Given the description of an element on the screen output the (x, y) to click on. 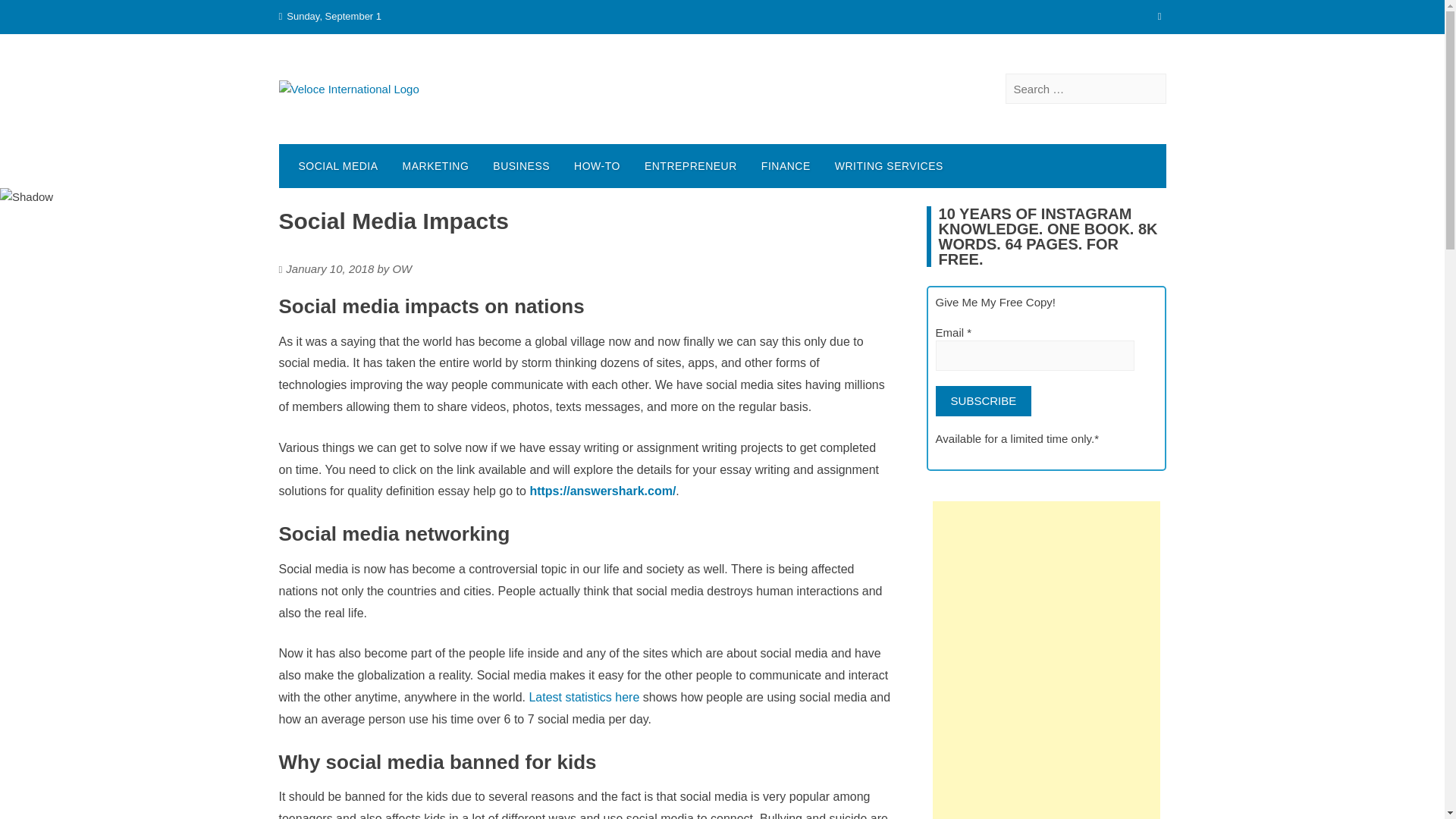
Marketing (435, 166)
WRITING SERVICES (888, 166)
Email (1035, 355)
ENTREPRENEUR (690, 166)
Search (33, 15)
BUSINESS (521, 166)
SUBSCRIBE (984, 400)
SOCIAL MEDIA (338, 166)
SUBSCRIBE (984, 400)
Latest statistics here (583, 697)
